Given the description of an element on the screen output the (x, y) to click on. 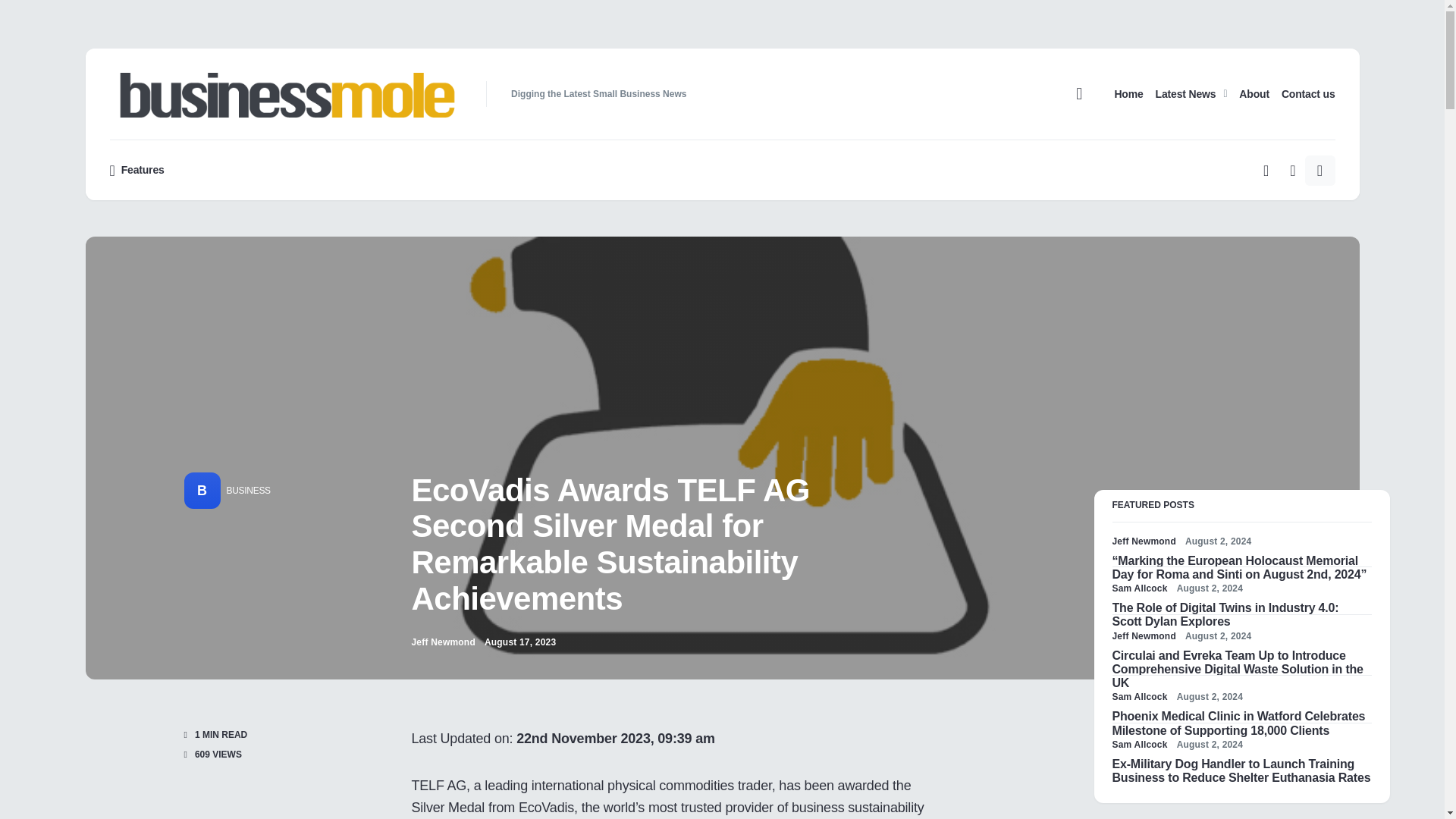
Latest News (1191, 93)
View all posts by Jeff Newmond (1143, 635)
View all posts by Sam Allcock (1139, 588)
View all posts by Jeff Newmond (1143, 540)
View all posts by Sam Allcock (1139, 744)
View all posts by Sam Allcock (1139, 696)
View all posts by Jeff Newmond (442, 642)
